Given the description of an element on the screen output the (x, y) to click on. 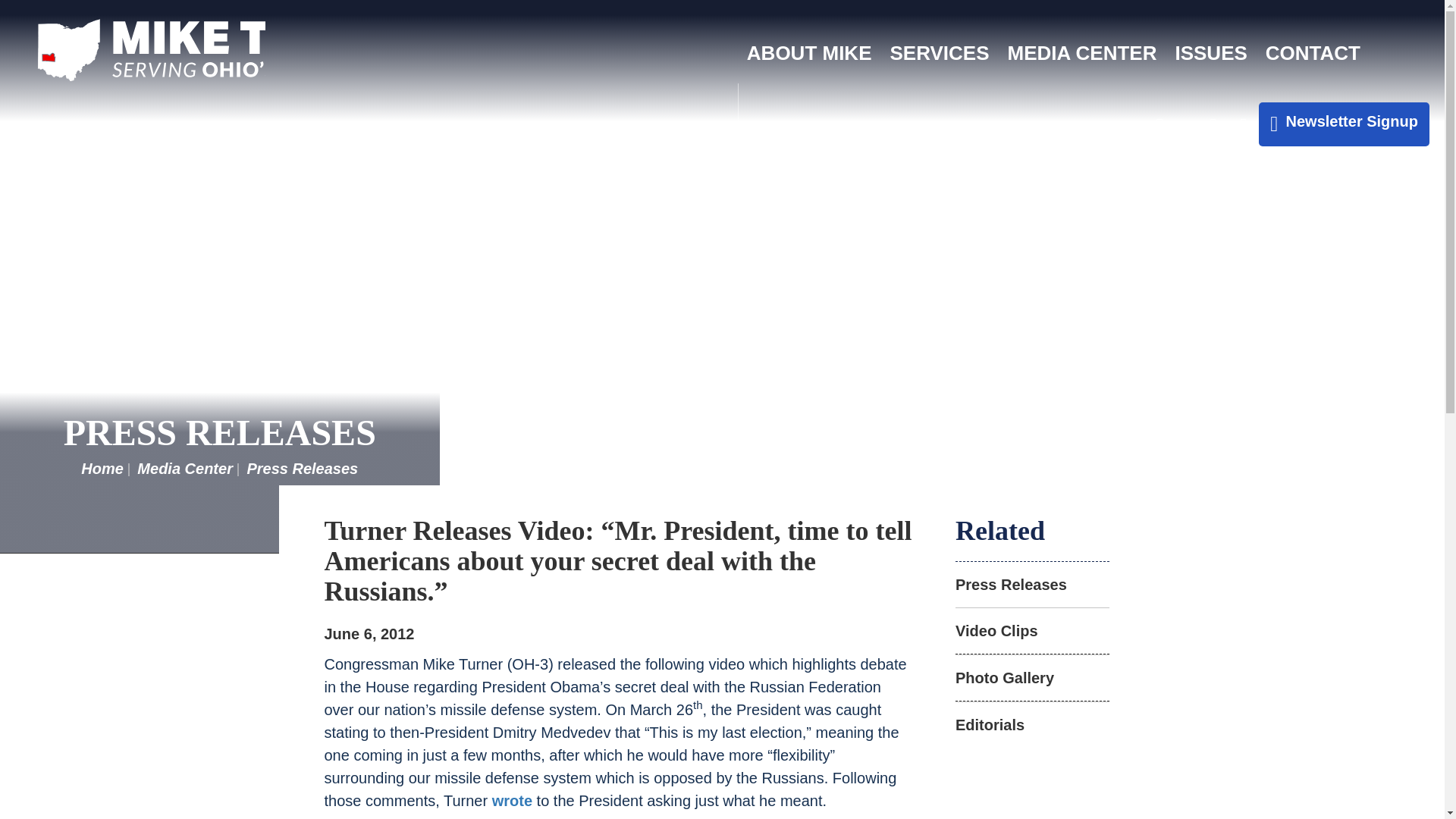
CONGRESSMAN MICHAEL TURNER (150, 50)
SERVICES (939, 52)
MEDIA CENTER (1082, 52)
ISSUES (1210, 52)
ABOUT MIKE (809, 52)
